Given the description of an element on the screen output the (x, y) to click on. 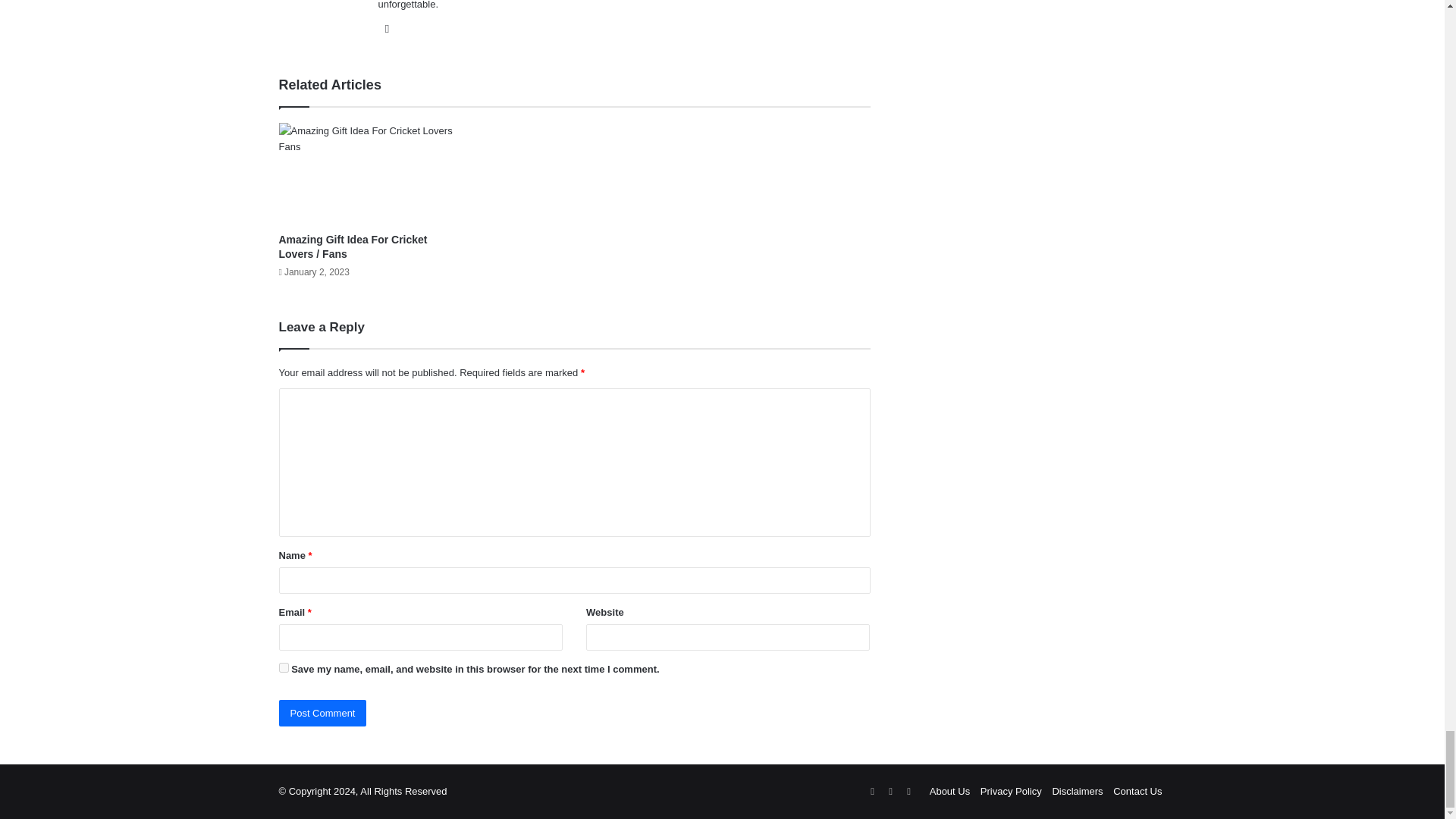
Post Comment (322, 713)
yes (283, 667)
Post Comment (322, 713)
Website (386, 28)
